Given the description of an element on the screen output the (x, y) to click on. 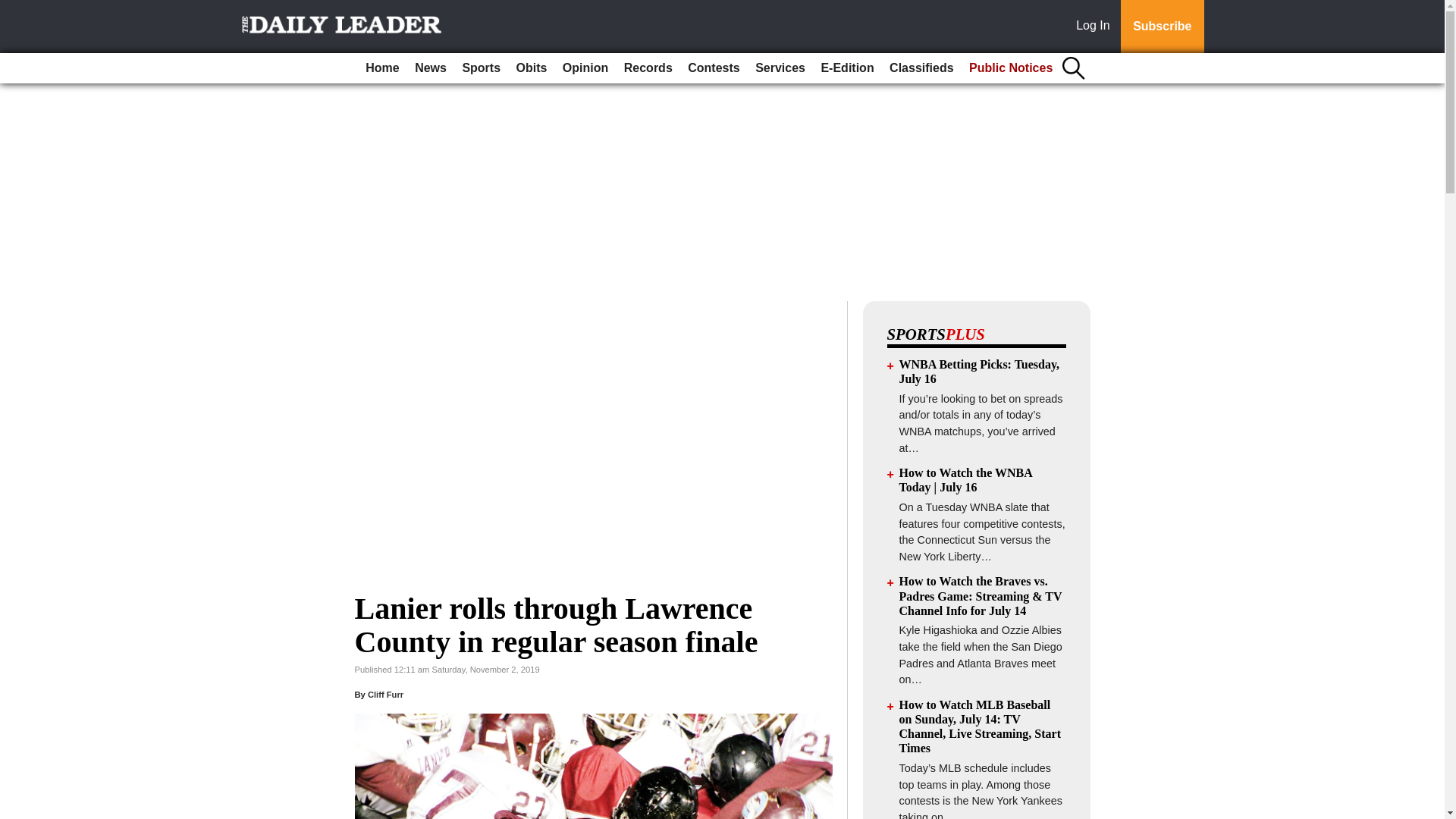
Sports (480, 68)
Records (647, 68)
Contests (713, 68)
Public Notices (1010, 68)
Home (381, 68)
Subscribe (1162, 26)
Cliff Furr (385, 694)
Classifieds (921, 68)
Services (779, 68)
E-Edition (846, 68)
Log In (1095, 26)
Go (13, 9)
News (430, 68)
WNBA Betting Picks: Tuesday, July 16 (979, 370)
